Given the description of an element on the screen output the (x, y) to click on. 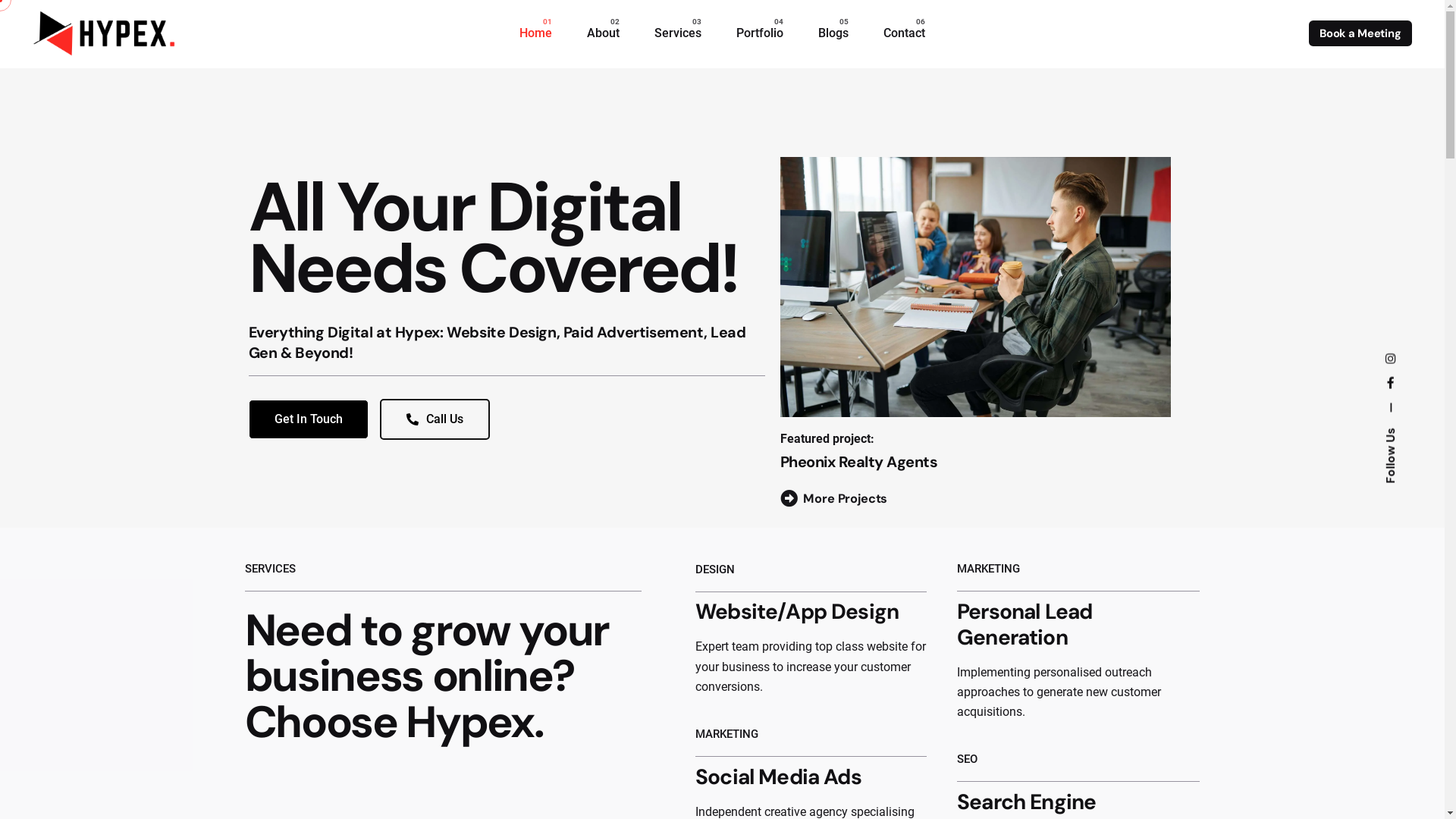
Hypex.au Element type: hover (1386, 386)
Call Us Element type: text (434, 418)
Blogs Element type: text (833, 33)
Pheonix Realty Agents Element type: text (859, 461)
Home Element type: text (535, 33)
Website/App Design Element type: text (796, 611)
Book a Meeting Element type: text (1360, 33)
Services Element type: text (677, 33)
Hypex.au Element type: hover (1387, 360)
Portfolio Element type: text (759, 33)
Get In Touch Element type: text (308, 419)
About Element type: text (603, 33)
More Projects Element type: text (834, 498)
Personal Lead Generation Element type: text (1024, 624)
Social Media Ads Element type: text (778, 776)
Contact Element type: text (904, 33)
